Given the description of an element on the screen output the (x, y) to click on. 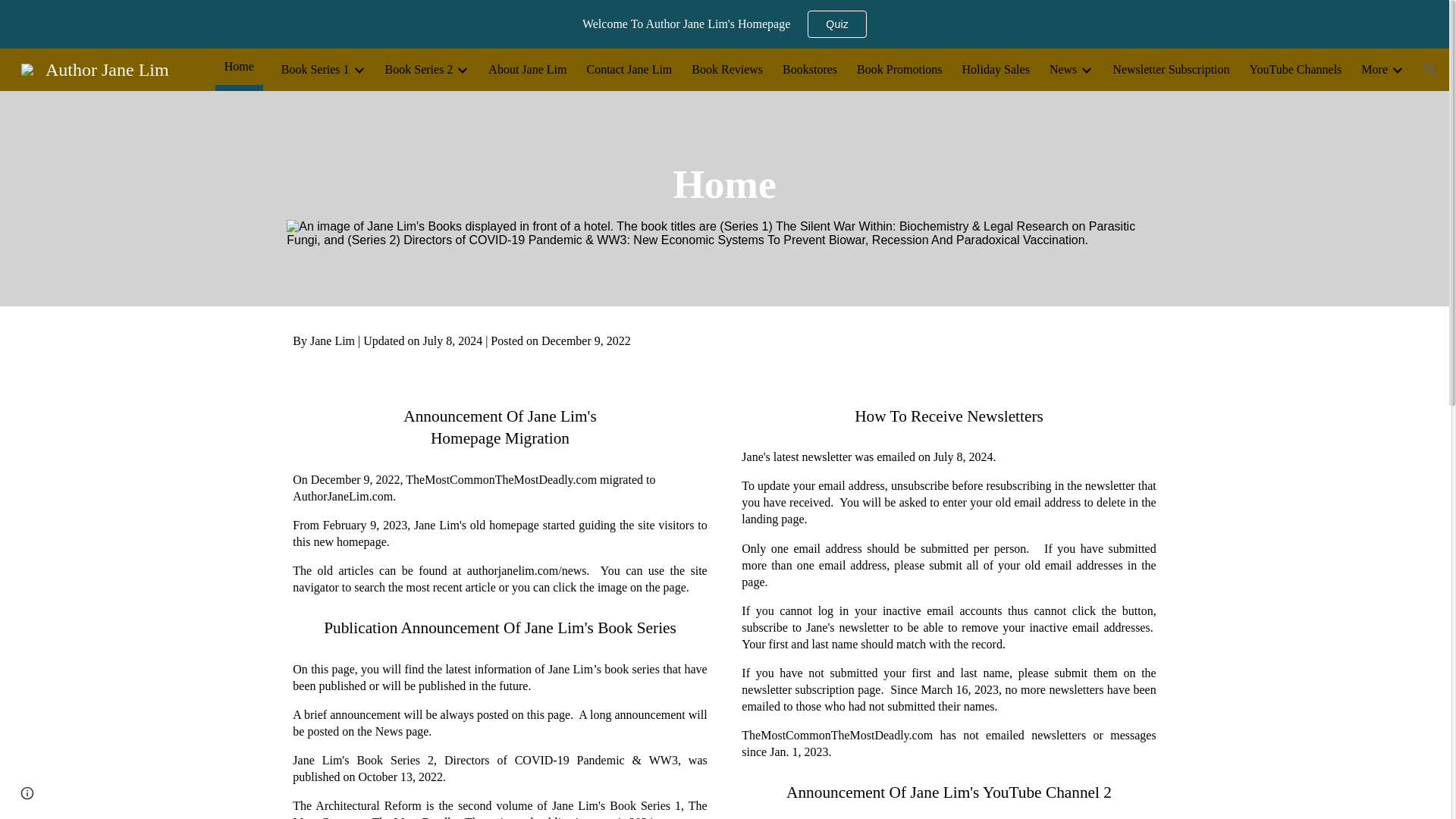
Quiz (837, 23)
Quiz (837, 23)
